Given the description of an element on the screen output the (x, y) to click on. 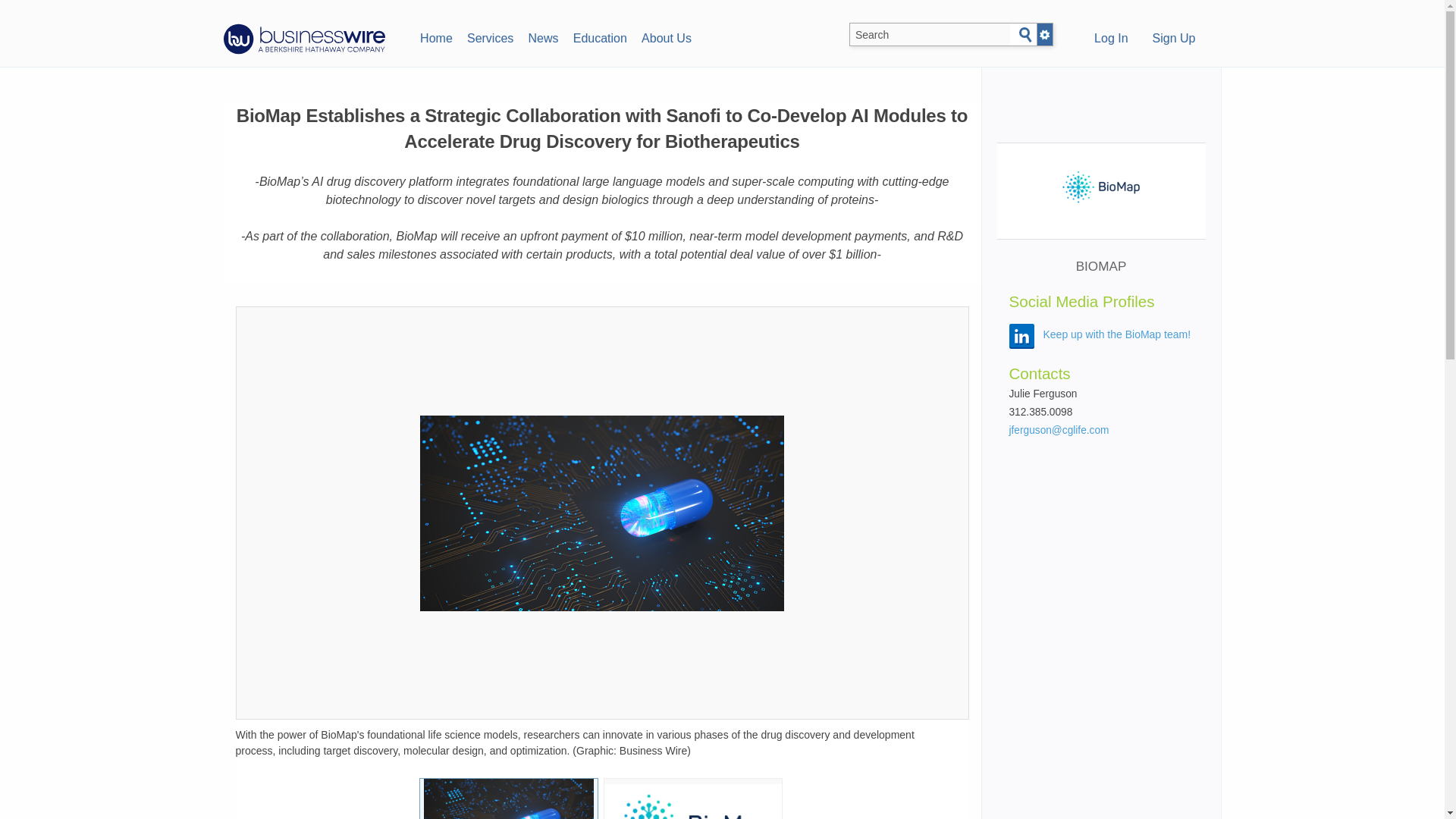
Education (599, 36)
Services (490, 36)
News (543, 36)
Keep up with the BioMap team! (1117, 334)
Home (436, 36)
